Given the description of an element on the screen output the (x, y) to click on. 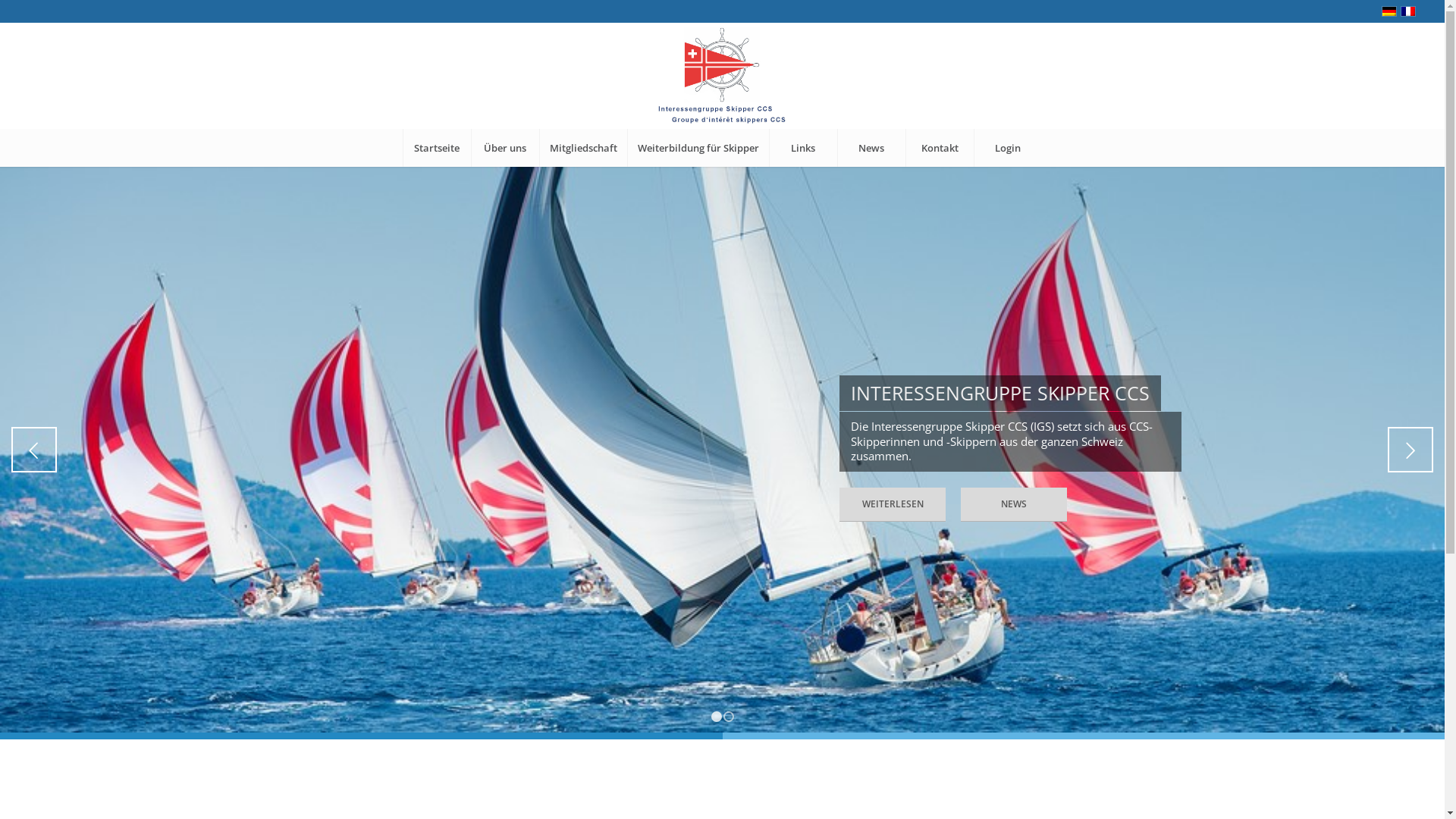
1 Element type: text (716, 716)
Links Element type: text (802, 147)
WEITERLESEN Element type: text (892, 504)
Login Element type: text (1007, 147)
Mitgliedschaft Element type: text (583, 147)
Kontakt Element type: text (939, 147)
Startseite Element type: text (436, 147)
News Element type: text (871, 147)
NEWS Element type: text (1013, 504)
2 Element type: text (728, 716)
Deutsch Element type: hover (1388, 11)
Weiter Element type: text (1410, 449)
